Given the description of an element on the screen output the (x, y) to click on. 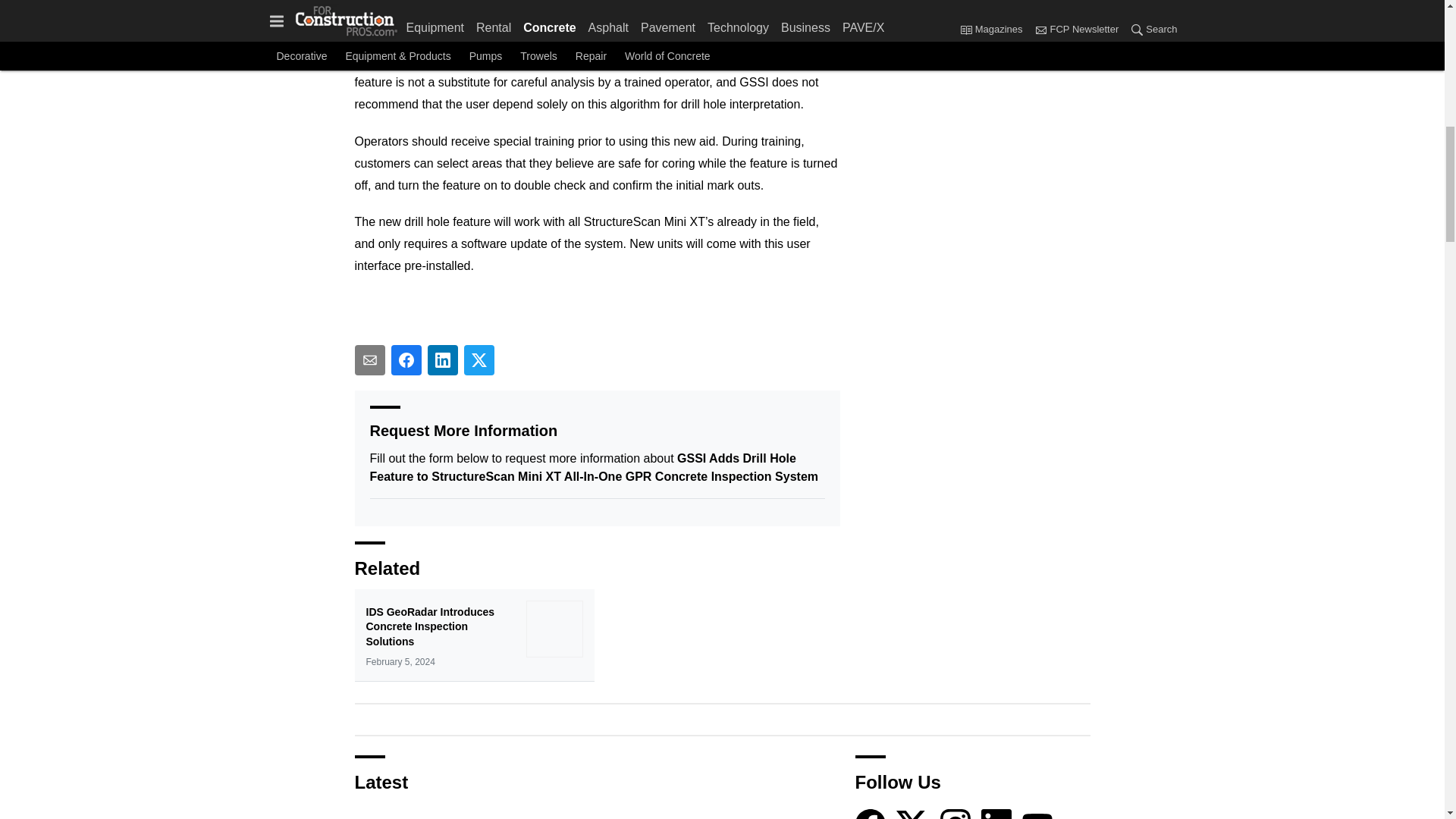
Facebook icon (870, 814)
Instagram icon (955, 814)
Share To email (370, 359)
LinkedIn icon (996, 814)
Twitter X icon (911, 814)
Share To linkedin (443, 359)
Share To facebook (406, 359)
Share To twitter (479, 359)
YouTube icon (1037, 814)
